Given the description of an element on the screen output the (x, y) to click on. 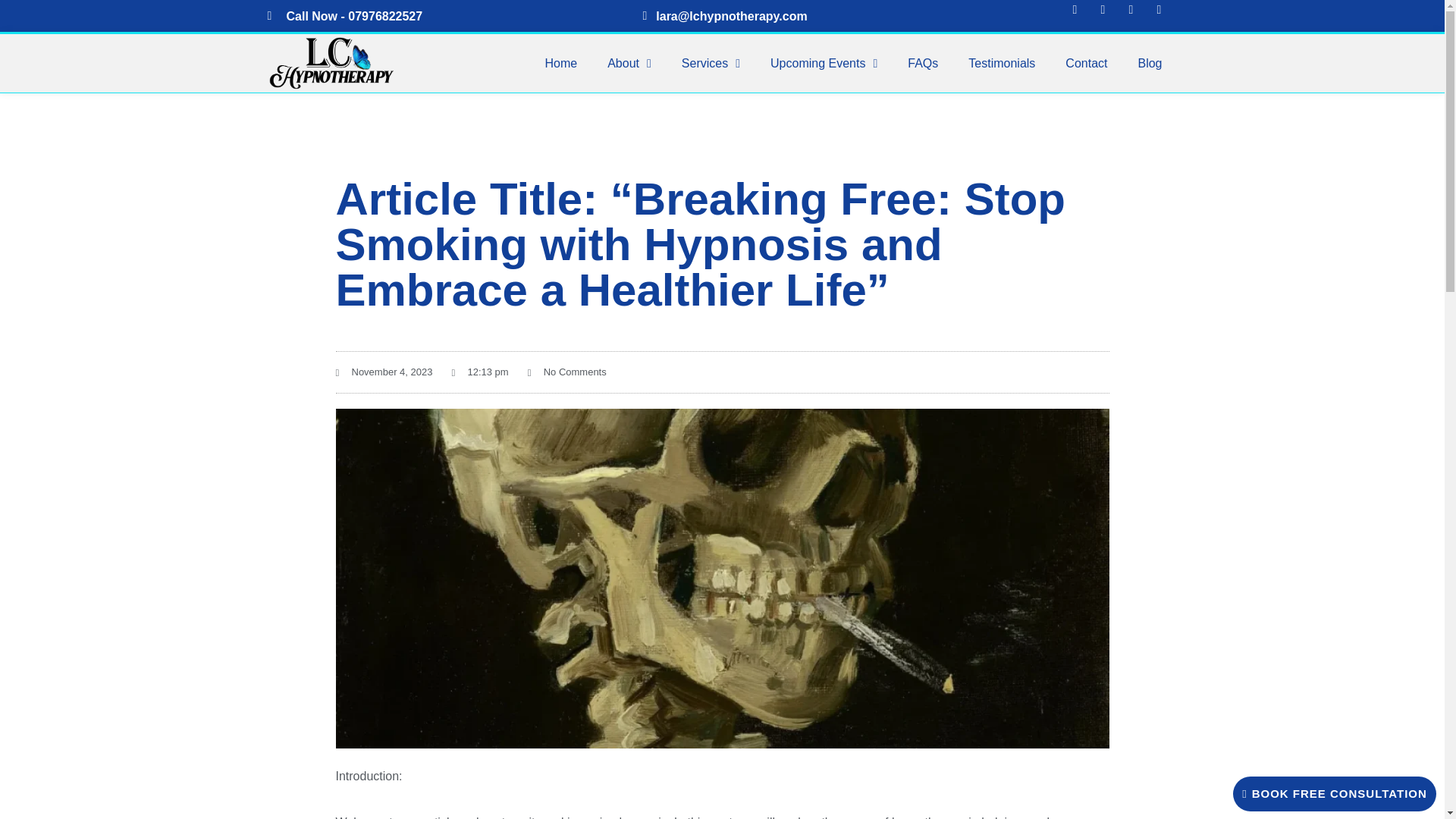
Facebook (1080, 15)
Contact (1085, 62)
Instagram (1108, 15)
About (629, 62)
Blog (1149, 62)
Youtube (1136, 15)
Testimonials (1001, 62)
Tiktok (1164, 15)
Services (710, 62)
Upcoming Events (823, 62)
